Given the description of an element on the screen output the (x, y) to click on. 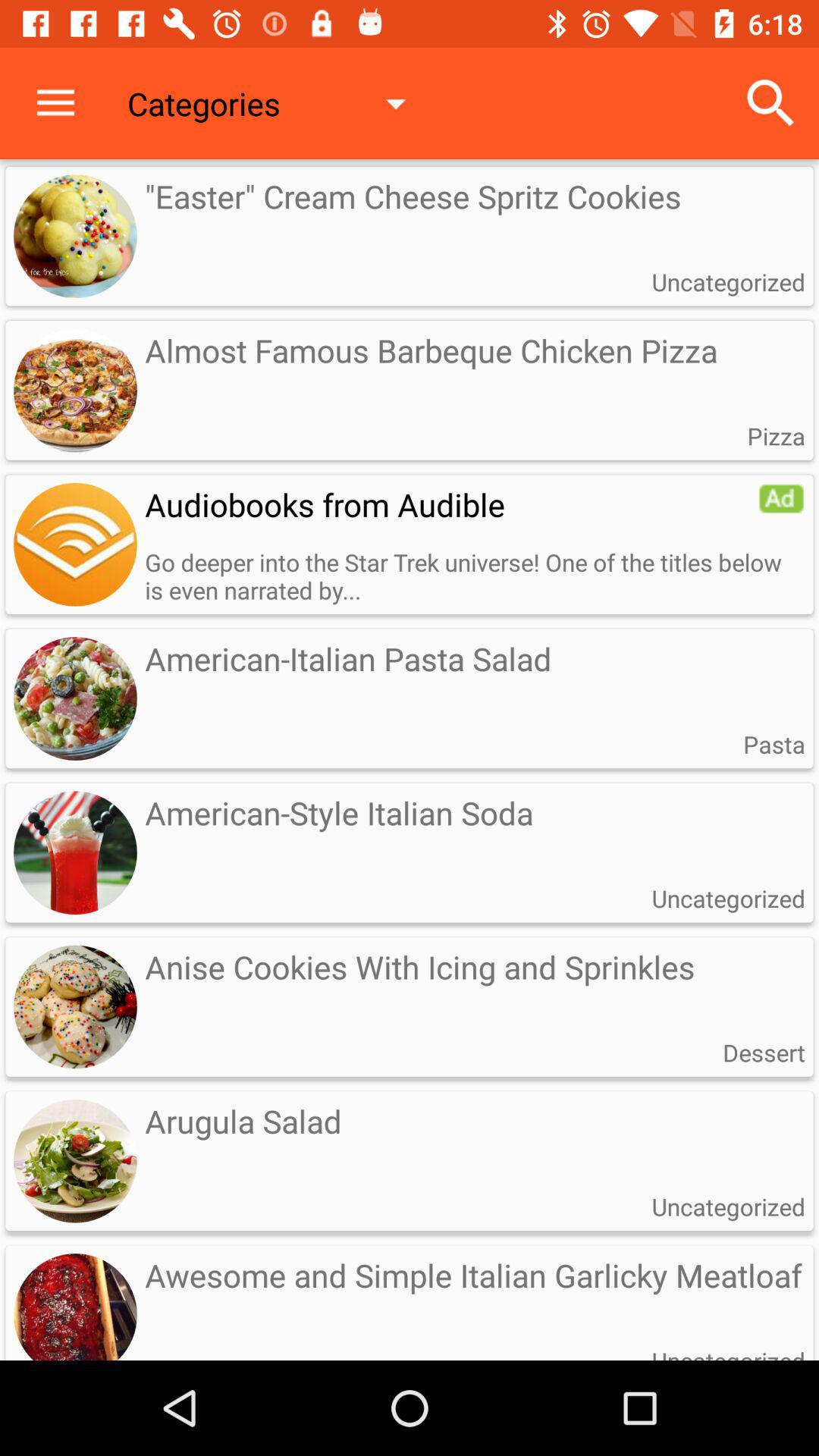
click on the text below audiobooks from audible (474, 576)
